Given the description of an element on the screen output the (x, y) to click on. 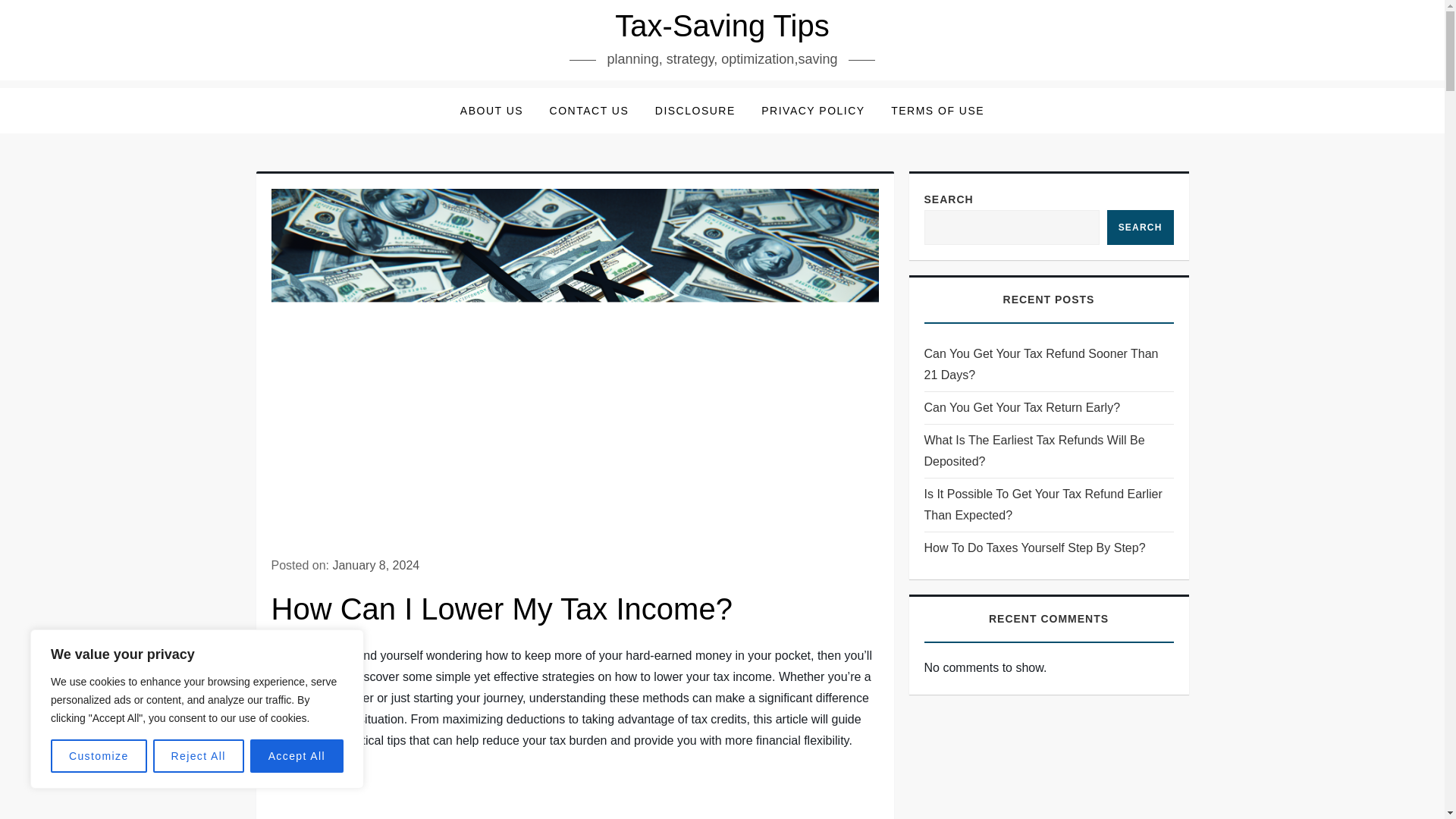
ABOUT US (491, 110)
January 8, 2024 (375, 564)
Reject All (198, 756)
Customize (98, 756)
CONTACT US (589, 110)
PRIVACY POLICY (812, 110)
Tax-Saving Tips (721, 25)
Accept All (296, 756)
DISCLOSURE (694, 110)
TERMS OF USE (937, 110)
